Given the description of an element on the screen output the (x, y) to click on. 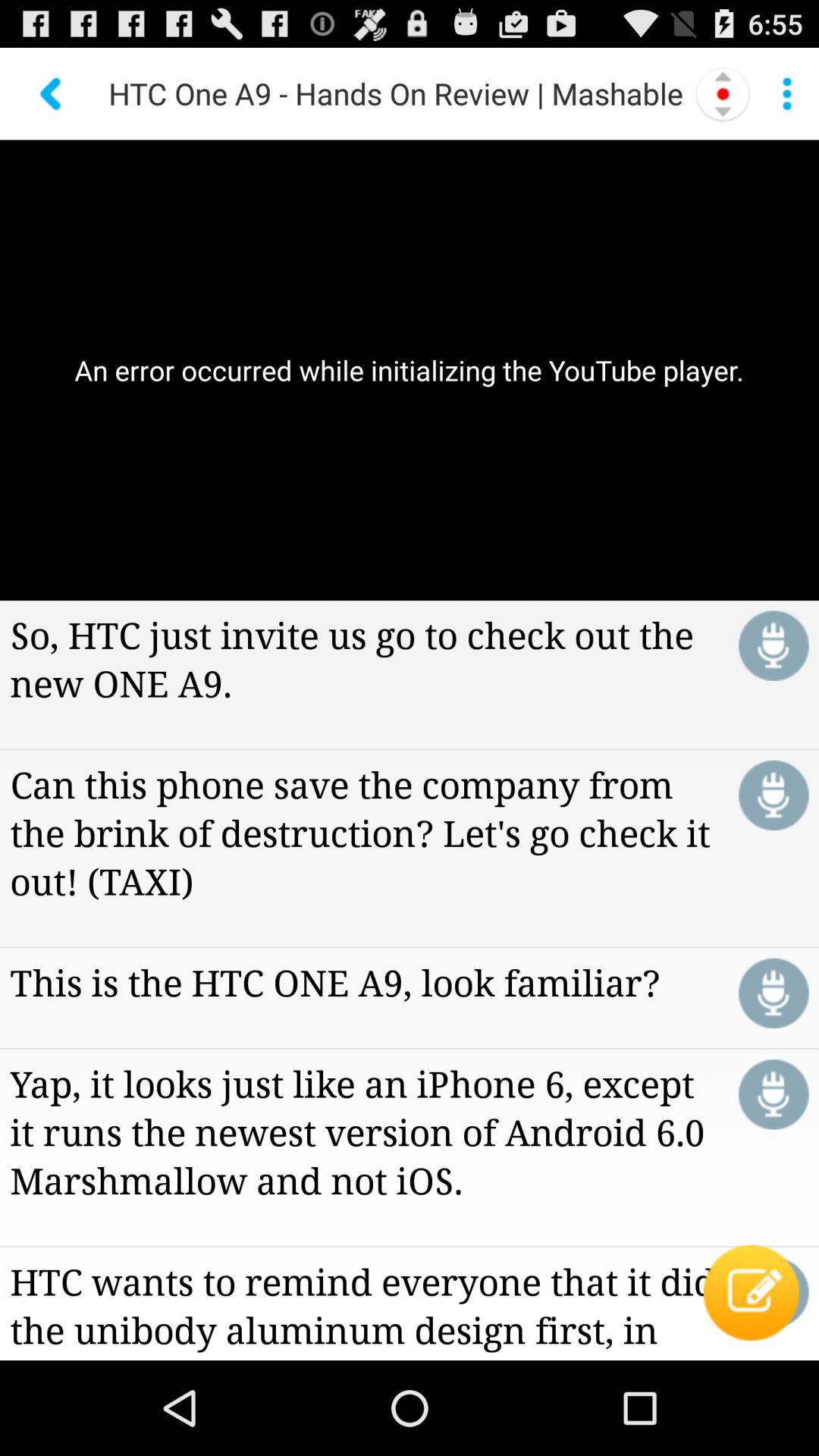
press the app above the an error occurred icon (52, 93)
